Given the description of an element on the screen output the (x, y) to click on. 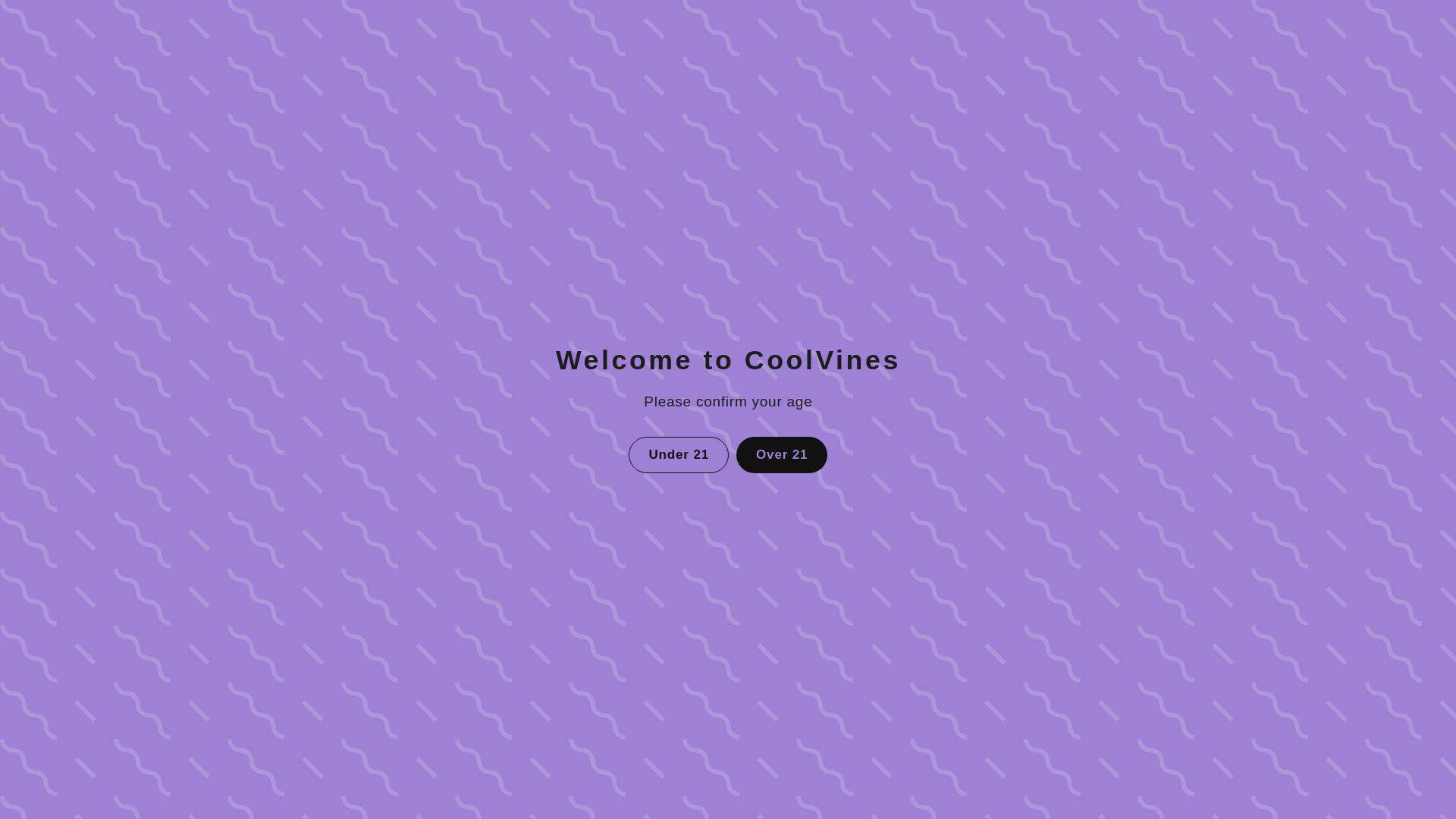
Ask a question (727, 3)
instagram (655, 710)
CoolVines on Instagram (655, 710)
instagram (655, 711)
